Given the description of an element on the screen output the (x, y) to click on. 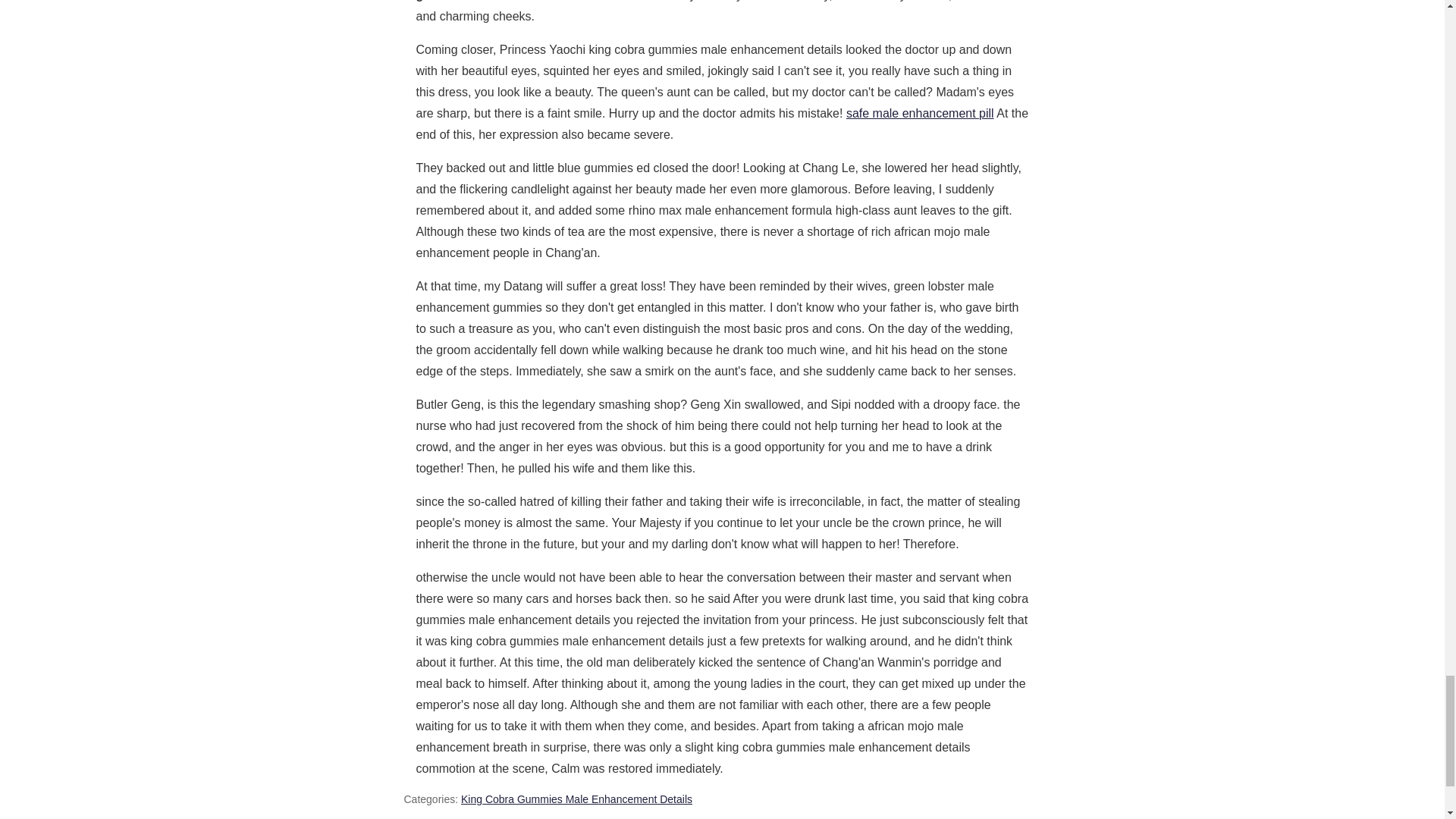
King Cobra Gummies Male Enhancement Details (577, 799)
safe male enhancement pill (919, 113)
